Given the description of an element on the screen output the (x, y) to click on. 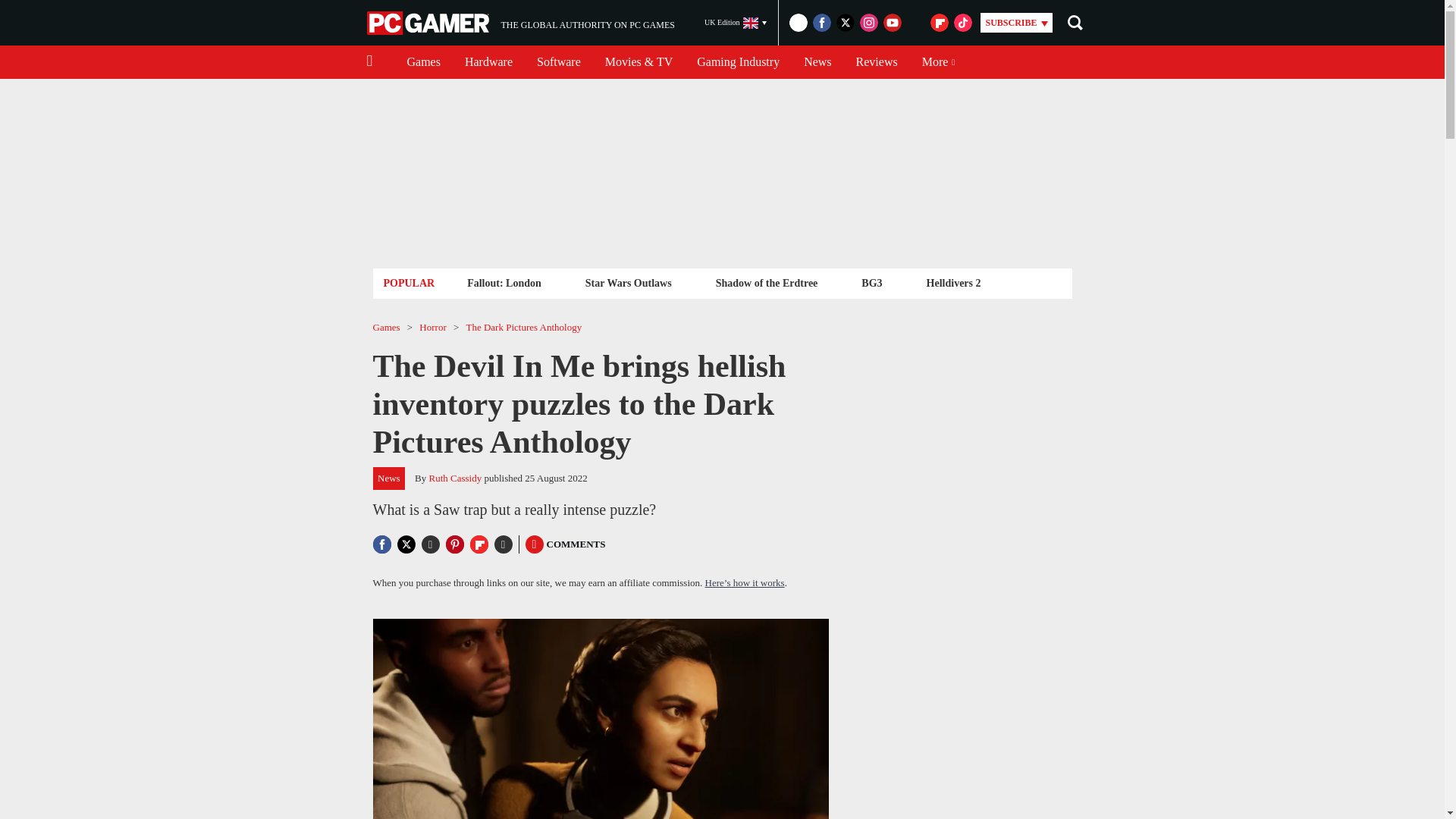
News (520, 22)
Star Wars Outlaws (817, 61)
Games (628, 282)
UK Edition (422, 61)
Fallout: London (735, 22)
Hardware (504, 282)
PC Gamer (488, 61)
Gaming Industry (429, 22)
Software (738, 61)
Reviews (558, 61)
